Given the description of an element on the screen output the (x, y) to click on. 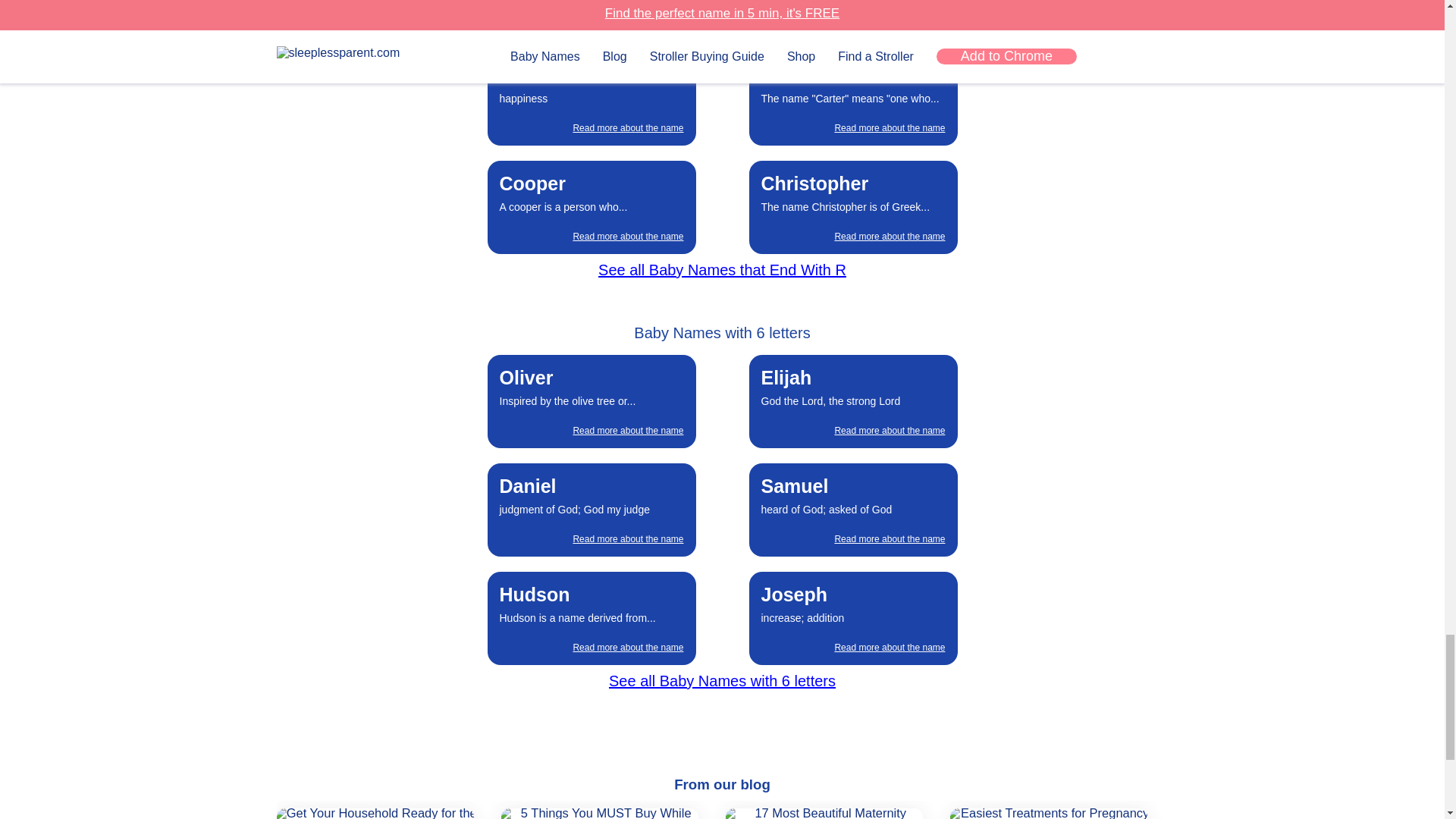
17 Most Beautiful Maternity Dresses (821, 812)
Easiest Treatments for Pregnancy Morning Sickness (1045, 812)
Get Your Household Ready for the Coronavirus Disease, 2020 (371, 812)
